Given the description of an element on the screen output the (x, y) to click on. 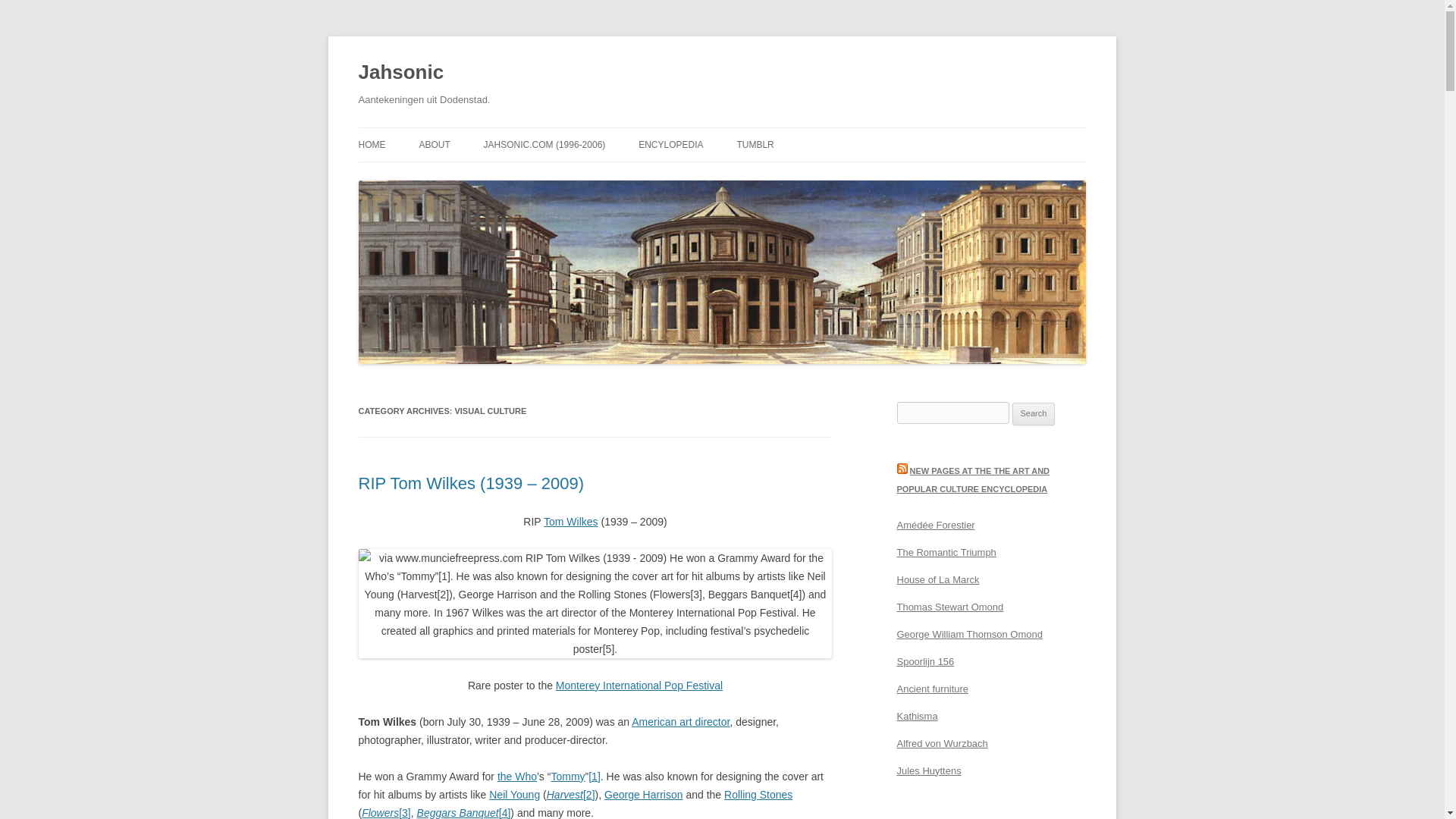
American art director (680, 721)
Monterey International Pop Festival (639, 685)
George Harrison (643, 794)
Rolling Stones (757, 794)
TUMBLR (754, 144)
ENCYLOPEDIA (671, 144)
Rolling Stones (757, 794)
Flowers (379, 812)
The Who (517, 776)
